Given the description of an element on the screen output the (x, y) to click on. 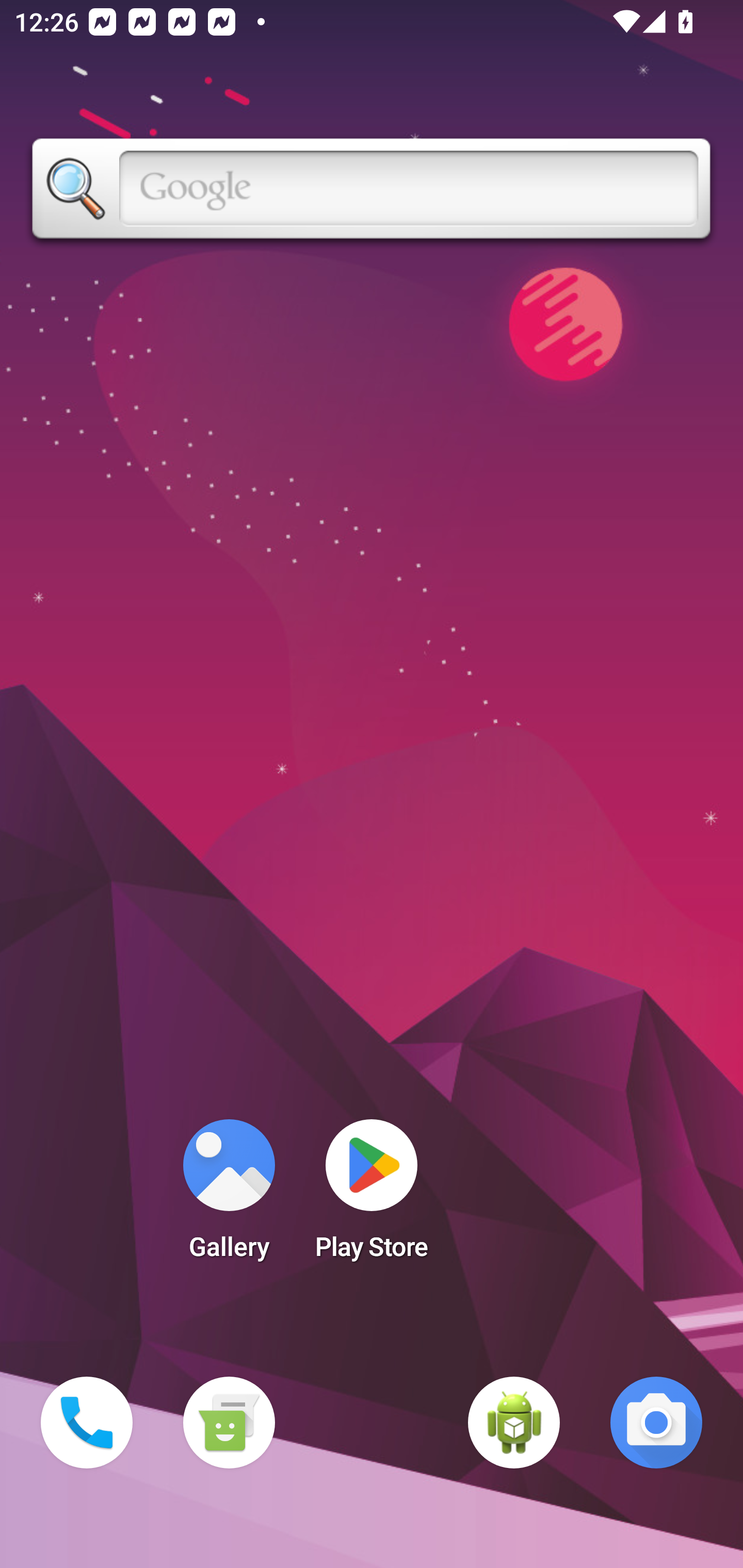
Gallery (228, 1195)
Play Store (371, 1195)
Phone (86, 1422)
Messaging (228, 1422)
WebView Browser Tester (513, 1422)
Camera (656, 1422)
